Given the description of an element on the screen output the (x, y) to click on. 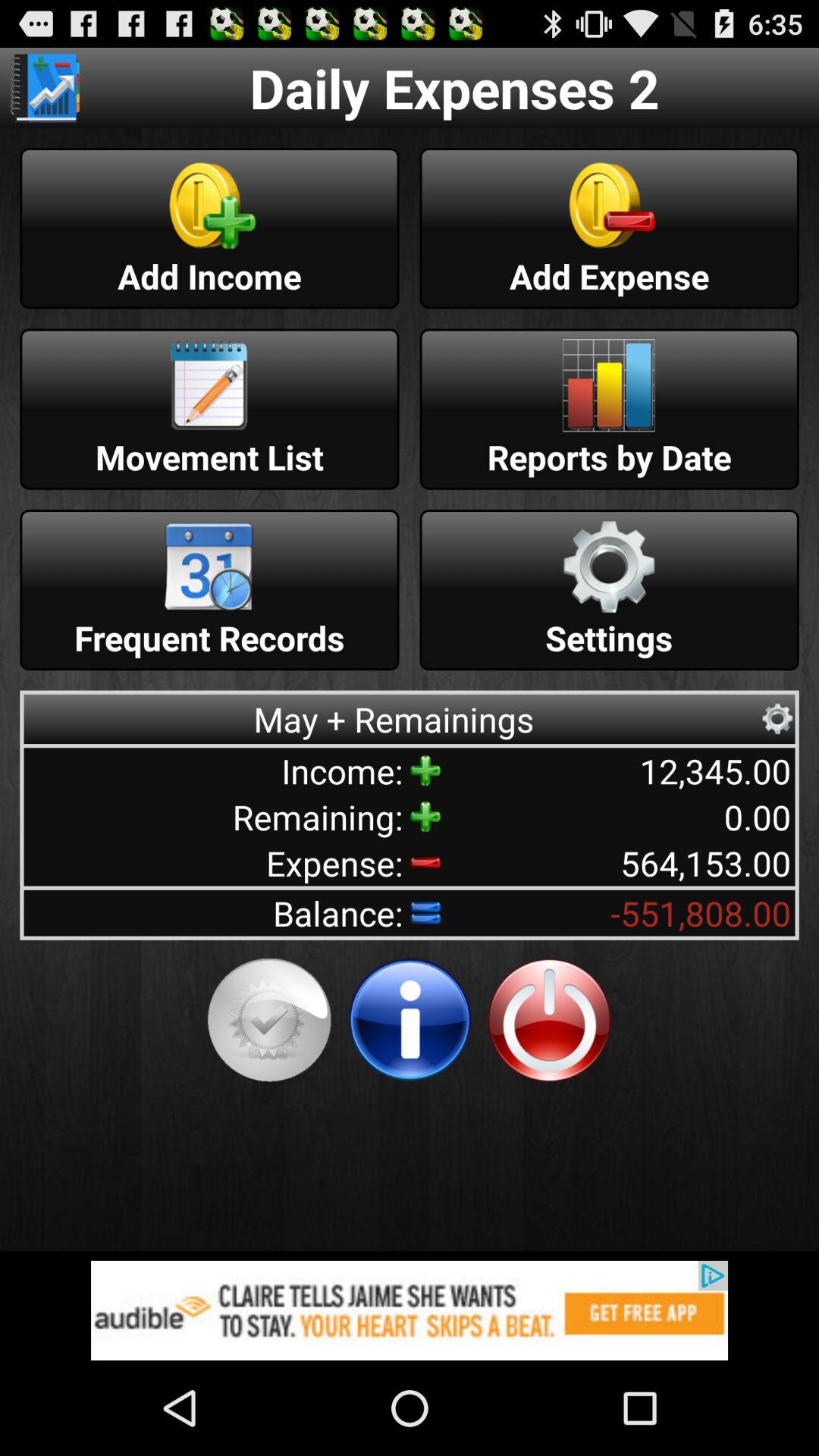
get more information (409, 1020)
